Given the description of an element on the screen output the (x, y) to click on. 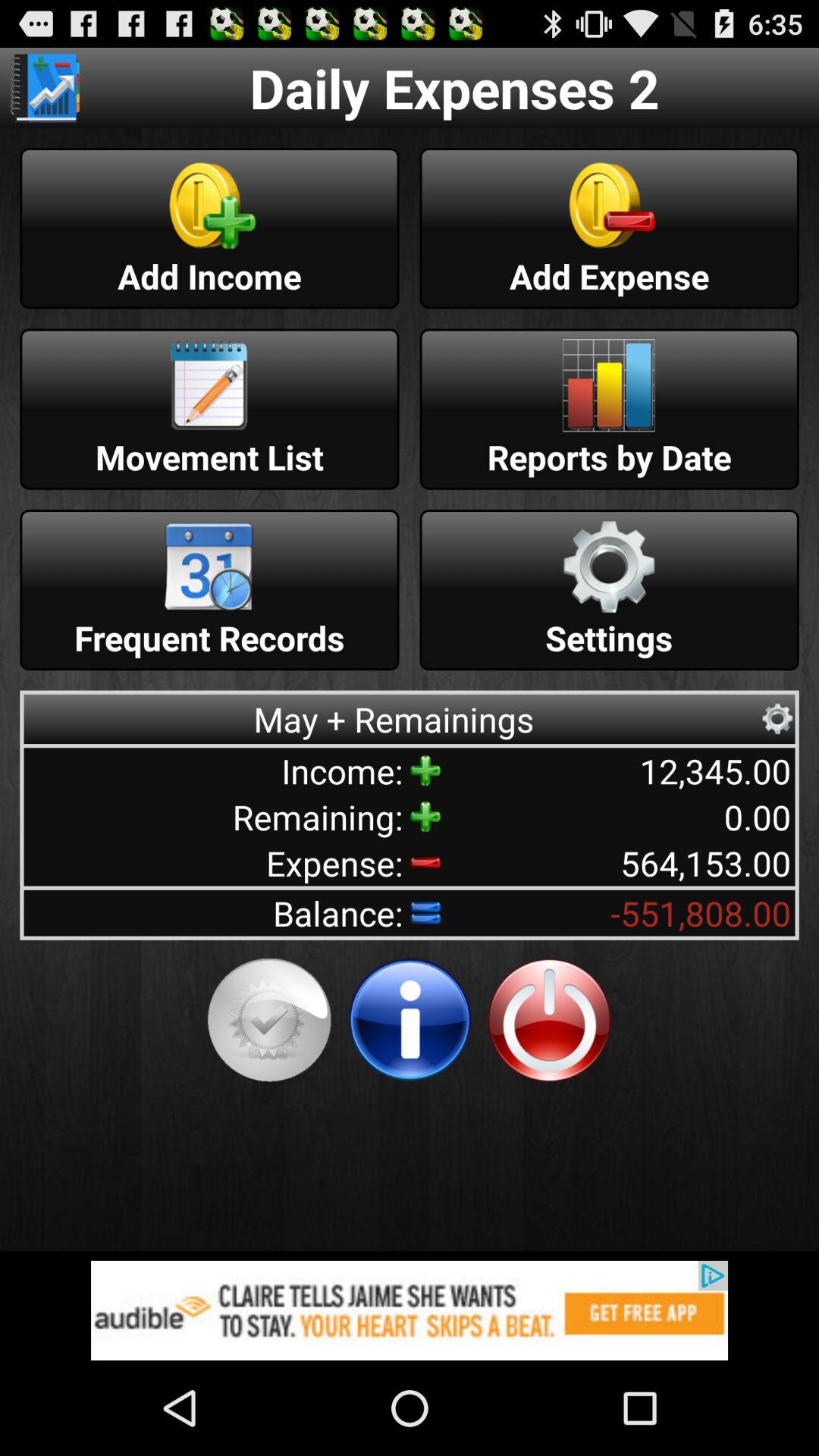
get more information (409, 1020)
